Given the description of an element on the screen output the (x, y) to click on. 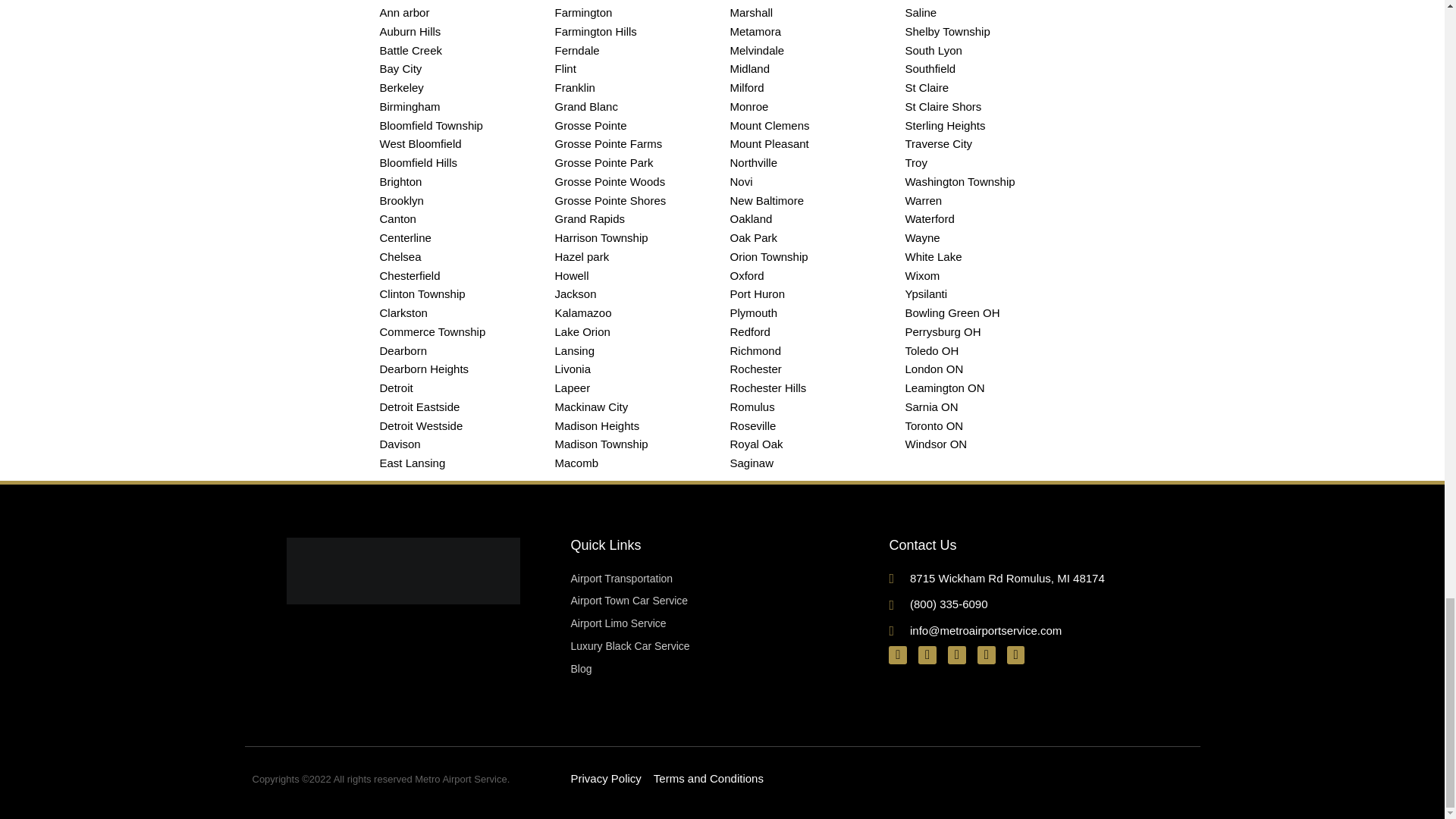
Berkeley (458, 87)
Bay City (458, 68)
Ann arbor (458, 13)
Birmingham (458, 107)
Auburn Hills (458, 31)
Battle Creek (458, 50)
